Given the description of an element on the screen output the (x, y) to click on. 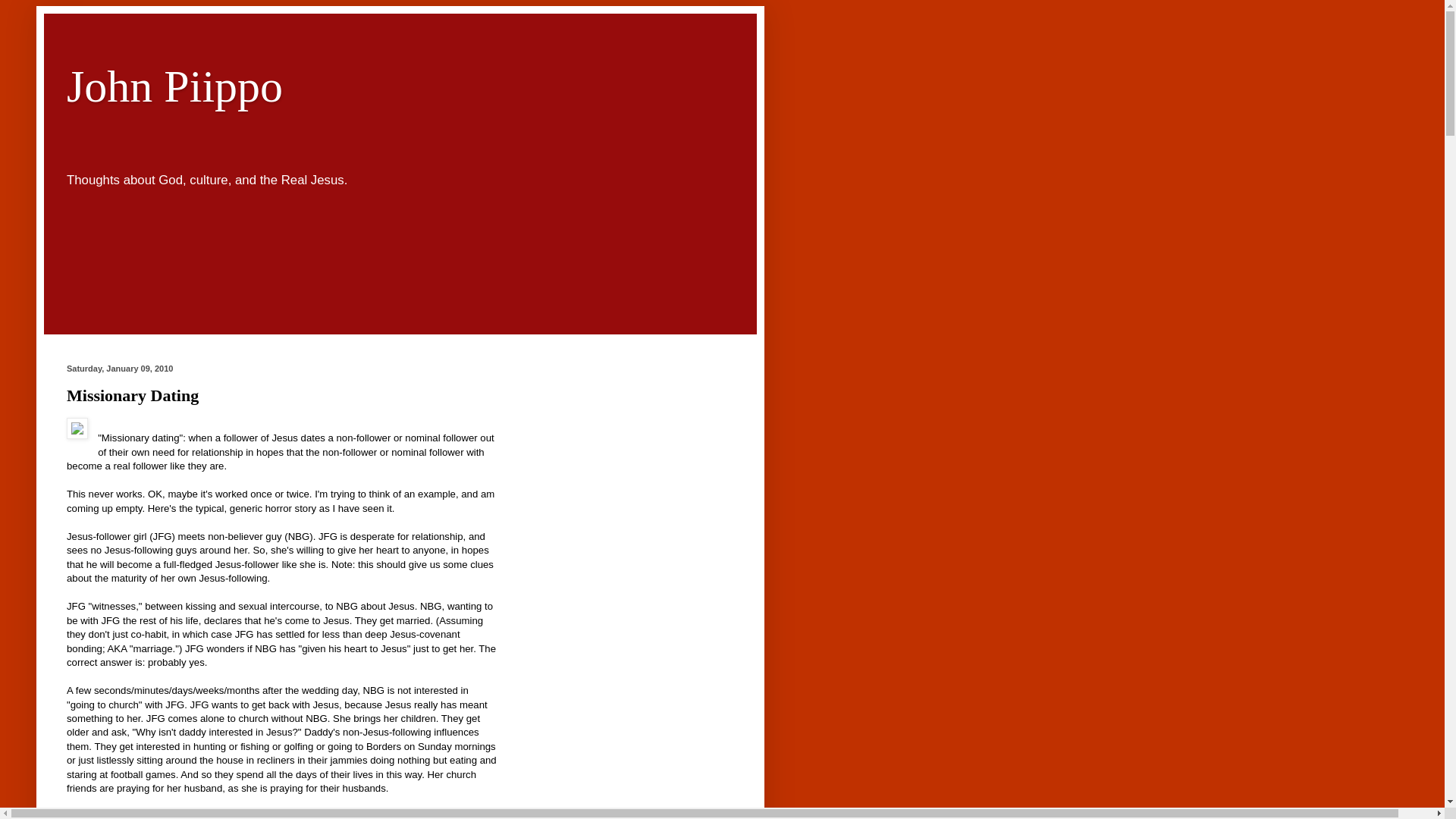
John Piippo (174, 86)
